Given the description of an element on the screen output the (x, y) to click on. 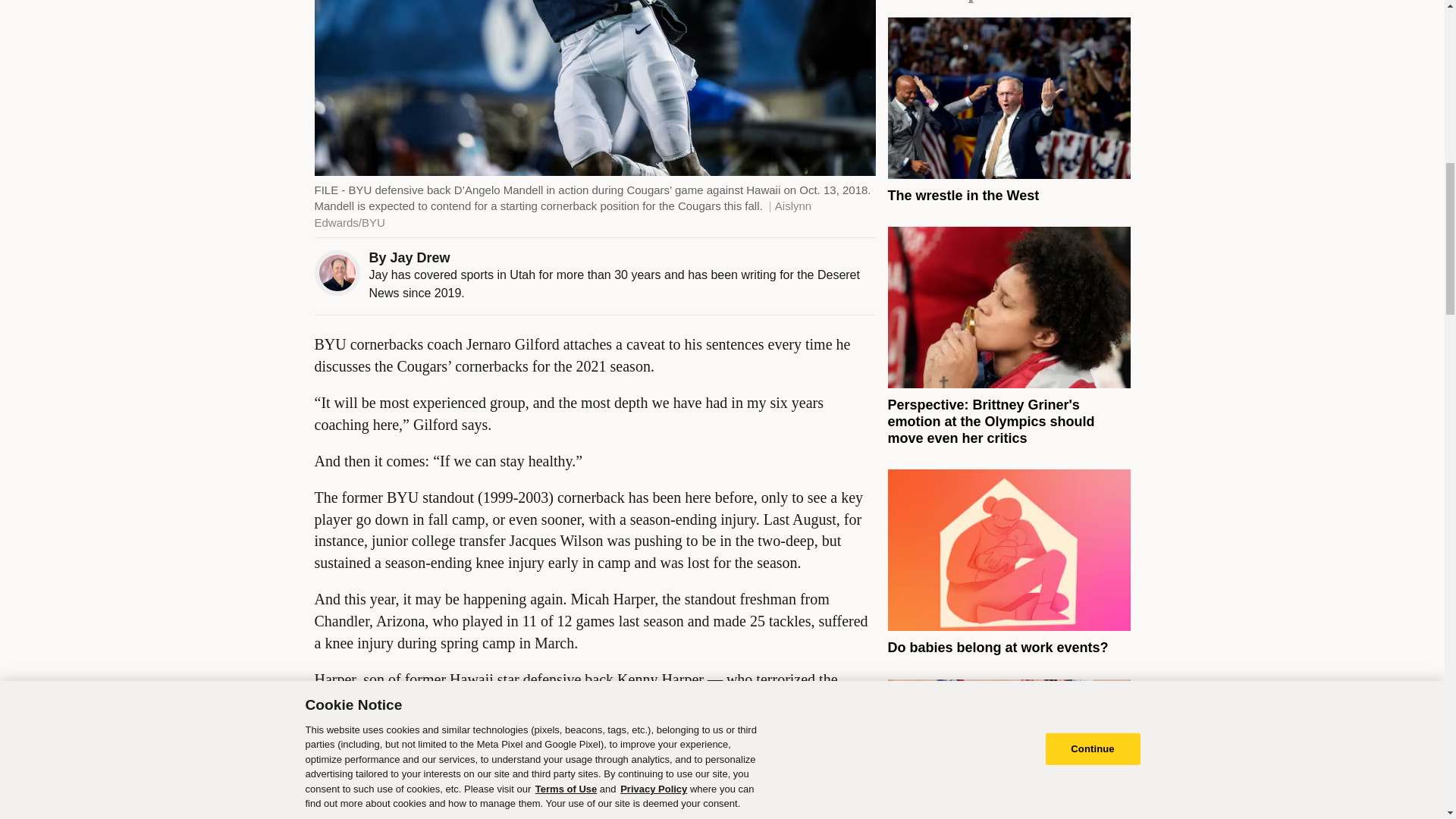
The wrestle in the West (962, 195)
Jay Drew (419, 257)
